Given the description of an element on the screen output the (x, y) to click on. 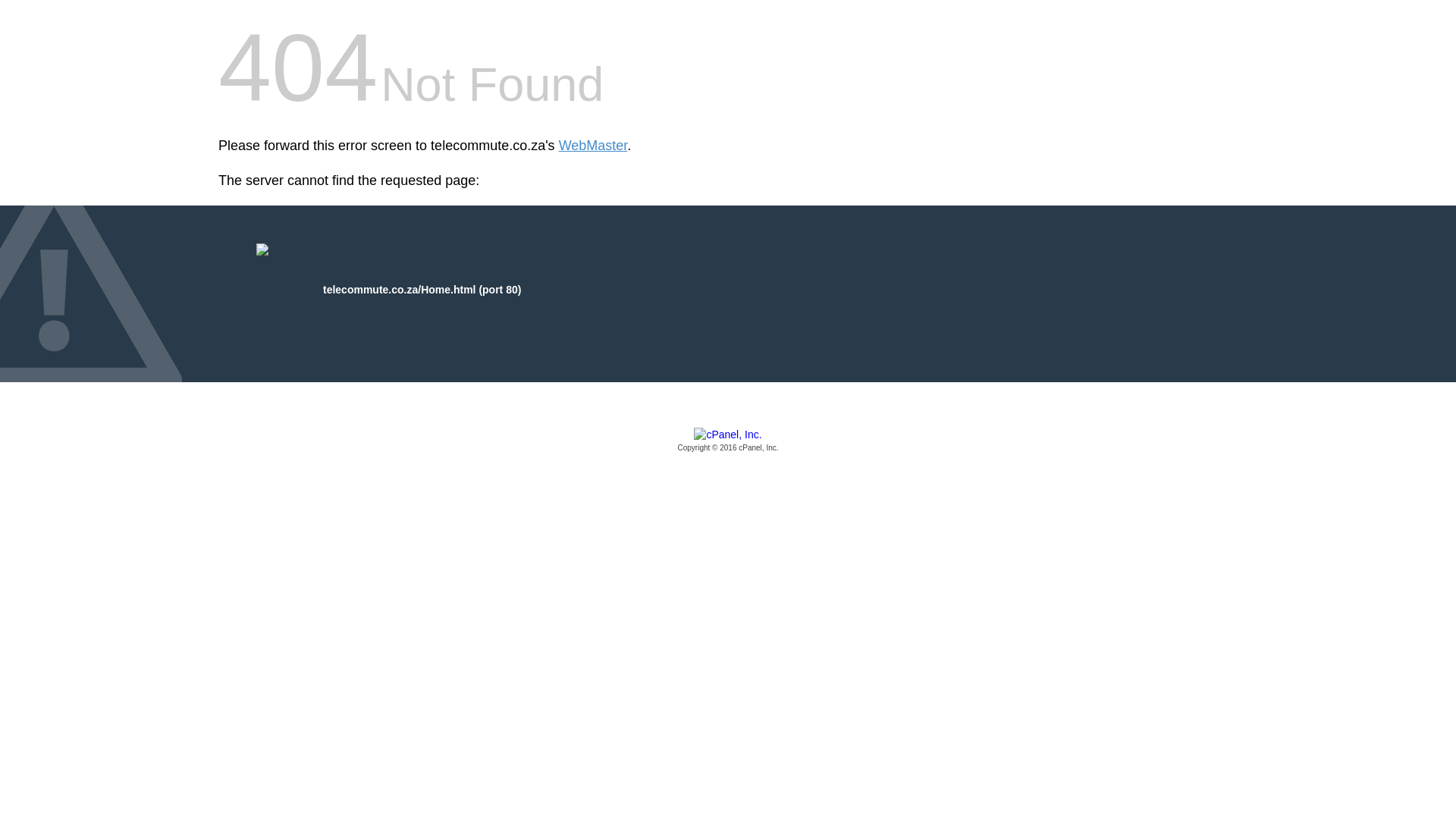
cPanel, Inc. (727, 440)
WebMaster (593, 145)
